Given the description of an element on the screen output the (x, y) to click on. 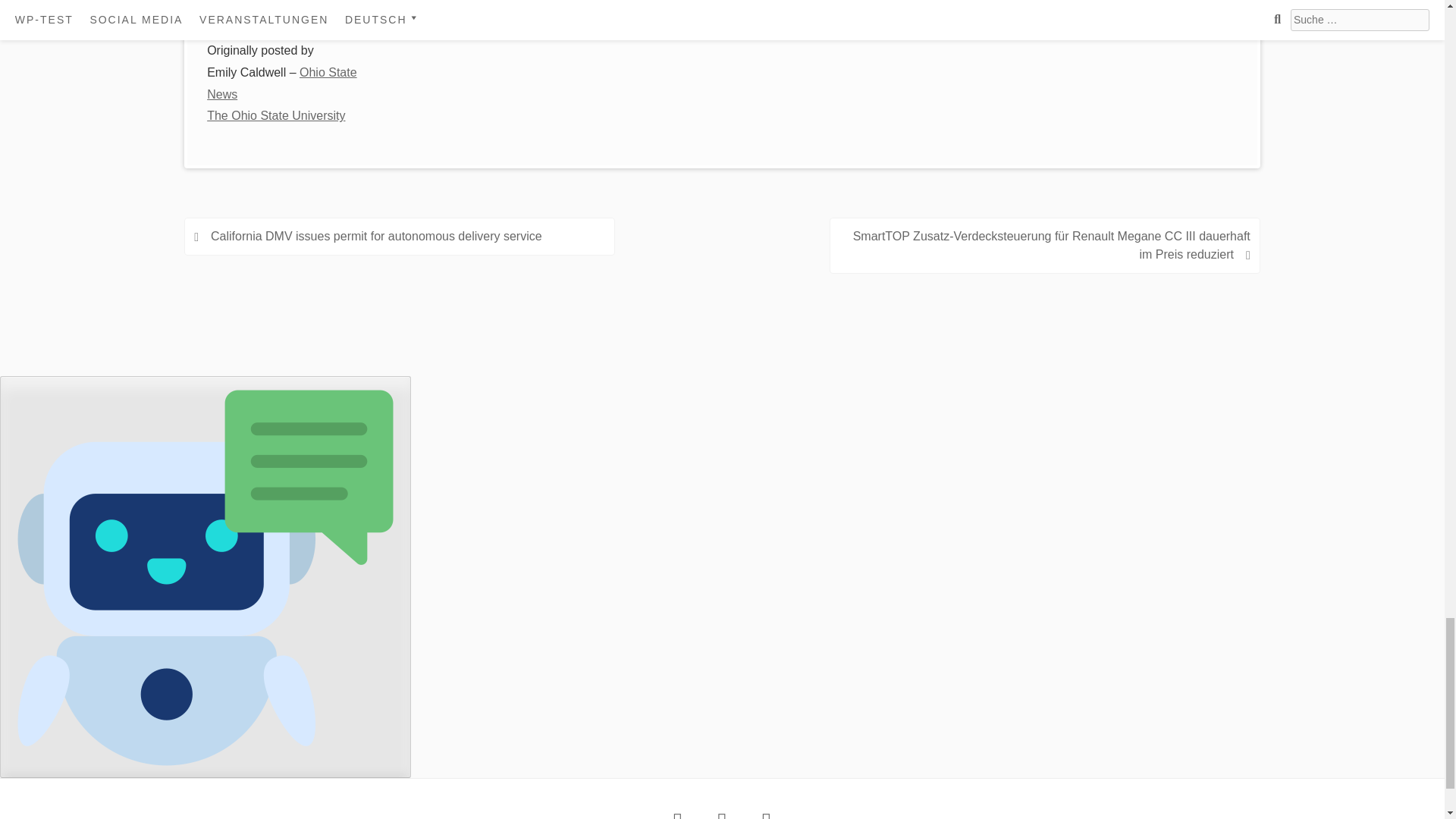
California DMV issues permit for autonomous delivery service (376, 236)
The Ohio State University (314, 8)
